Given the description of an element on the screen output the (x, y) to click on. 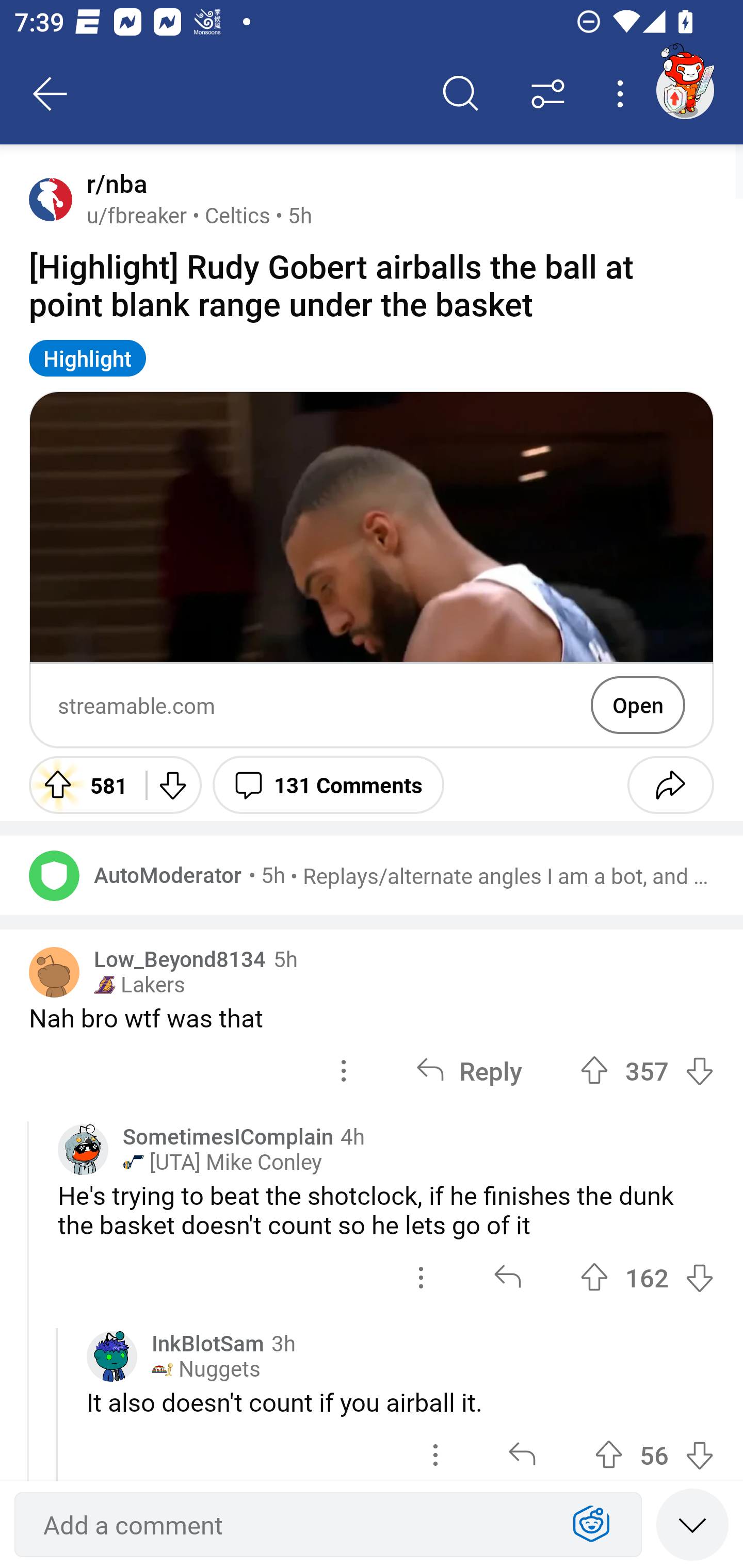
Back (50, 93)
TestAppium002 account (685, 90)
Search comments (460, 93)
Sort comments (547, 93)
More options (623, 93)
r/nba (113, 183)
Avatar (50, 199)
Highlight (87, 358)
Preview Image streamable.com Open (371, 568)
Open (637, 704)
Upvote 581 (79, 784)
Downvote (171, 784)
131 Comments (328, 784)
Share (670, 784)
Avatar (53, 874)
Avatar (53, 972)
￼ Lakers (139, 984)
Nah bro wtf was that (371, 1017)
options (343, 1070)
Reply (469, 1070)
Upvote 357 357 votes Downvote (647, 1070)
Custom avatar (82, 1149)
￼ [UTA] Mike Conley (222, 1161)
options (420, 1277)
Upvote 162 162 votes Downvote (647, 1277)
Custom avatar (111, 1356)
￼ Nuggets (205, 1368)
It also doesn't count if you airball it. (400, 1401)
options (435, 1450)
Upvote 56 56 votes Downvote (654, 1450)
Speed read (692, 1524)
Add a comment (291, 1524)
Show Expressions (590, 1524)
